Given the description of an element on the screen output the (x, y) to click on. 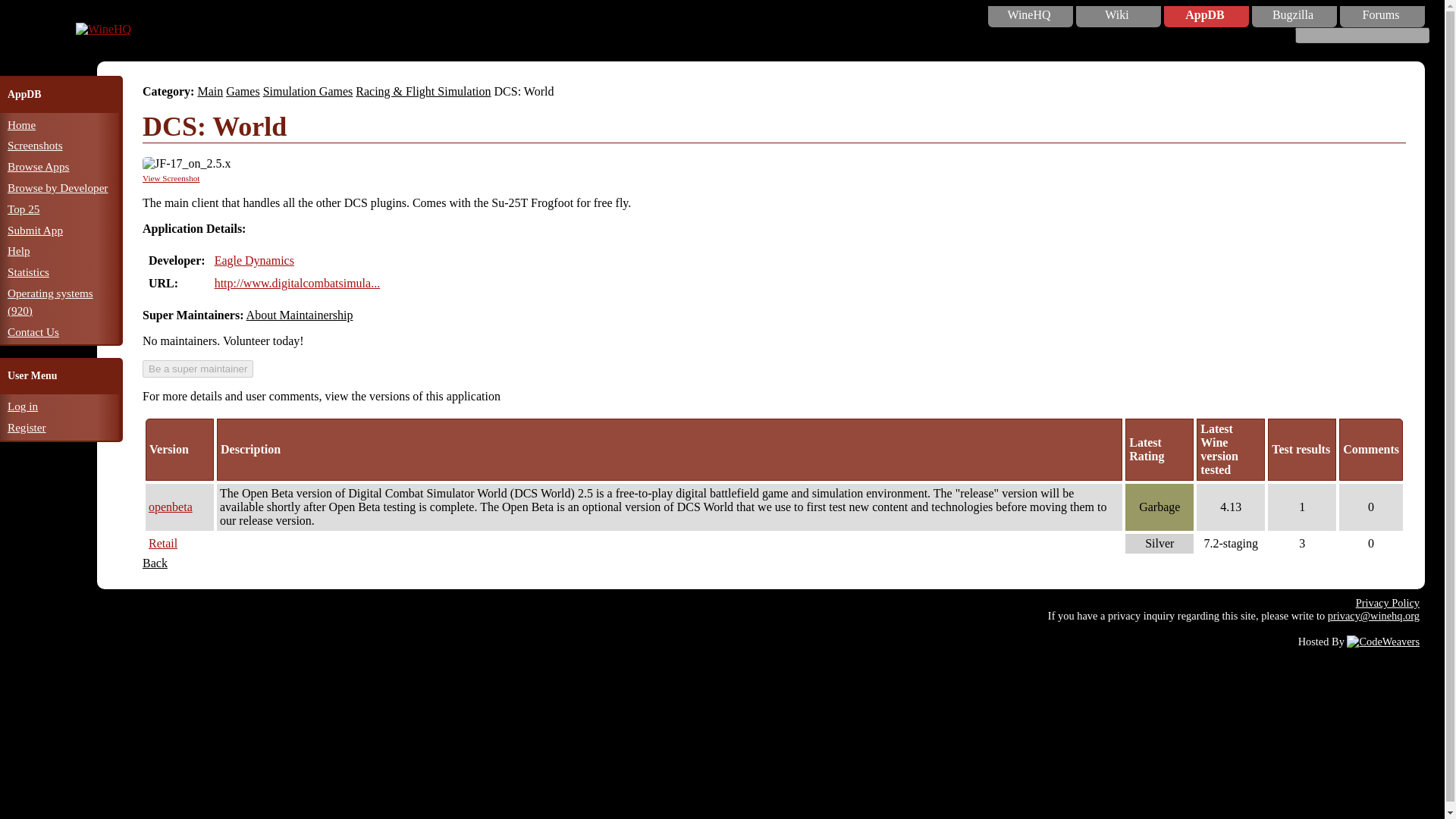
Bugzilla (1292, 15)
Top 25 (23, 208)
Contact Us (33, 331)
Home (20, 124)
Forums (1380, 15)
WineHQ (103, 29)
Back (154, 562)
Log in (22, 405)
Screenshots (34, 144)
Register (26, 427)
WineHQ (1029, 15)
Browse by Developer (57, 187)
Privacy Policy (1387, 603)
Browse Apps (37, 165)
View Screenshot (170, 177)
